Given the description of an element on the screen output the (x, y) to click on. 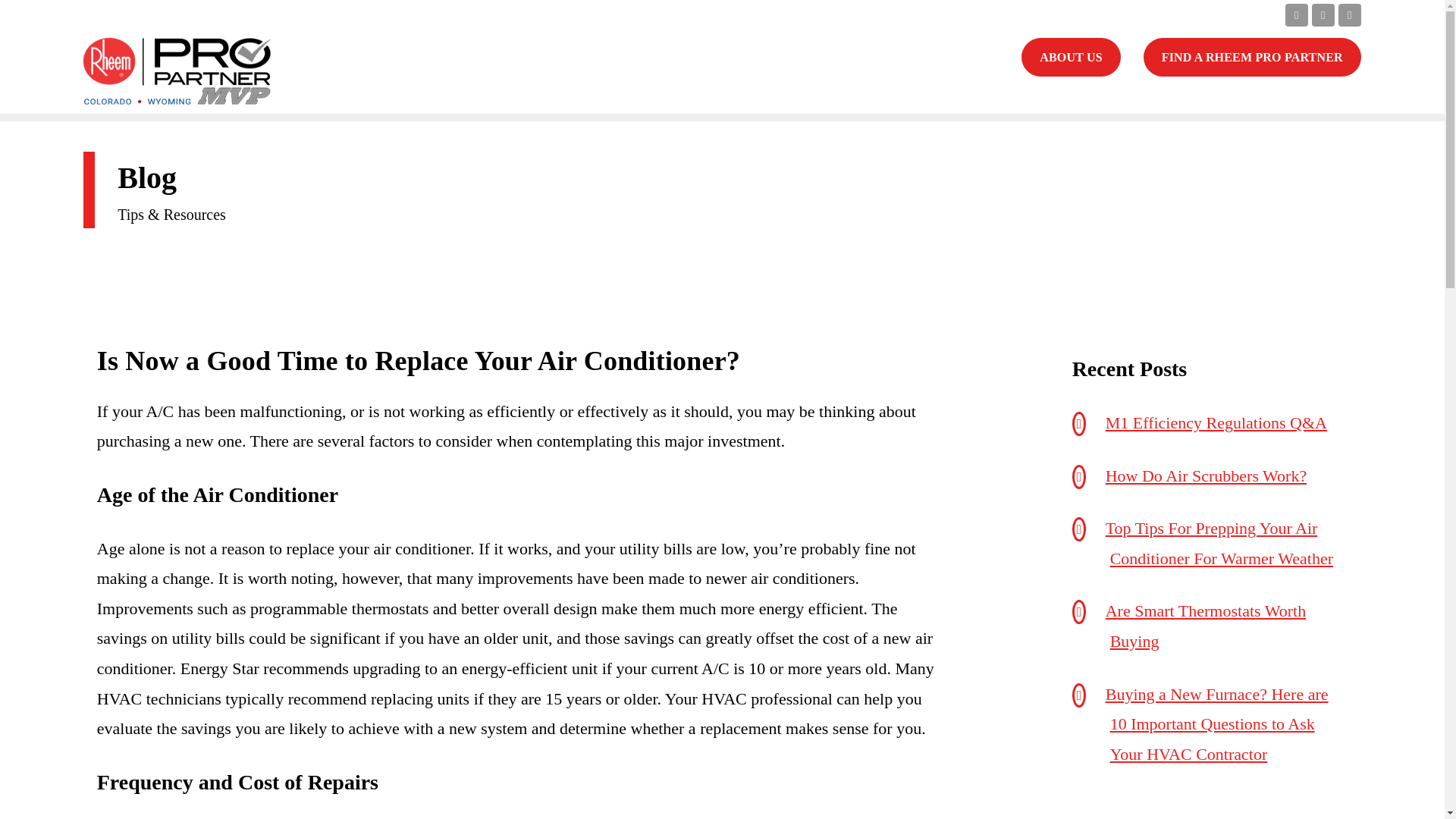
Are Smart Thermostats Worth Buying (1205, 625)
How Do Air Scrubbers Work? (1205, 475)
Call Us: 303-399-1752 (990, 14)
Contact Us (1070, 56)
Find a Rheem Pro Partner (1251, 56)
Rheem Pro Partners MVPs (176, 71)
FIND A RHEEM PRO PARTNER (1251, 56)
ABOUT US (1070, 56)
